Given the description of an element on the screen output the (x, y) to click on. 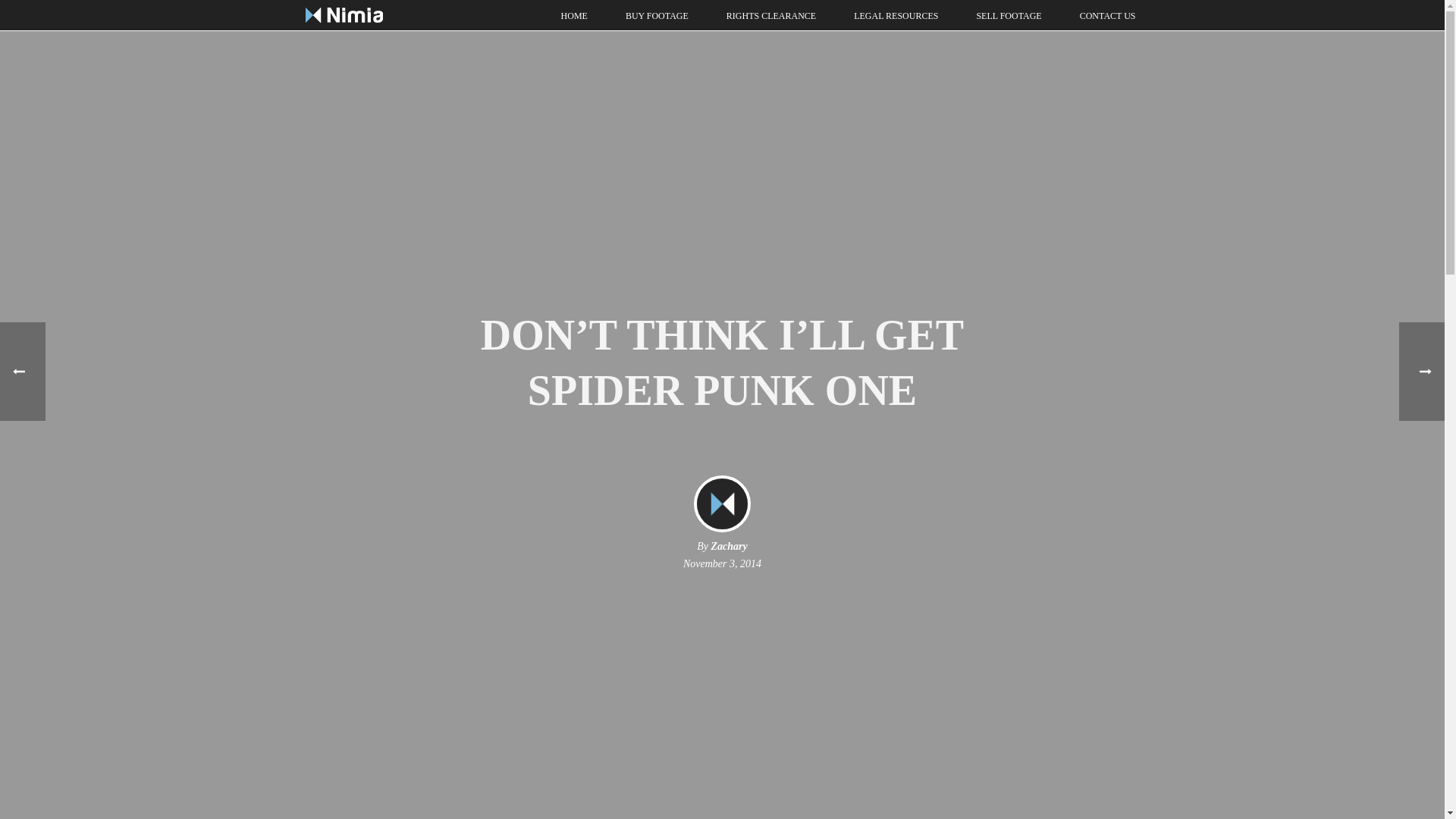
Zachary (729, 546)
BUY FOOTAGE (657, 15)
BUY FOOTAGE (657, 15)
CONTACT US (1107, 15)
HOME (574, 15)
RIGHTS CLEARANCE (770, 15)
CONTACT US (1107, 15)
LEGAL RESOURCES (895, 15)
LEGAL RESOURCES (895, 15)
RIGHTS CLEARANCE (770, 15)
